Given the description of an element on the screen output the (x, y) to click on. 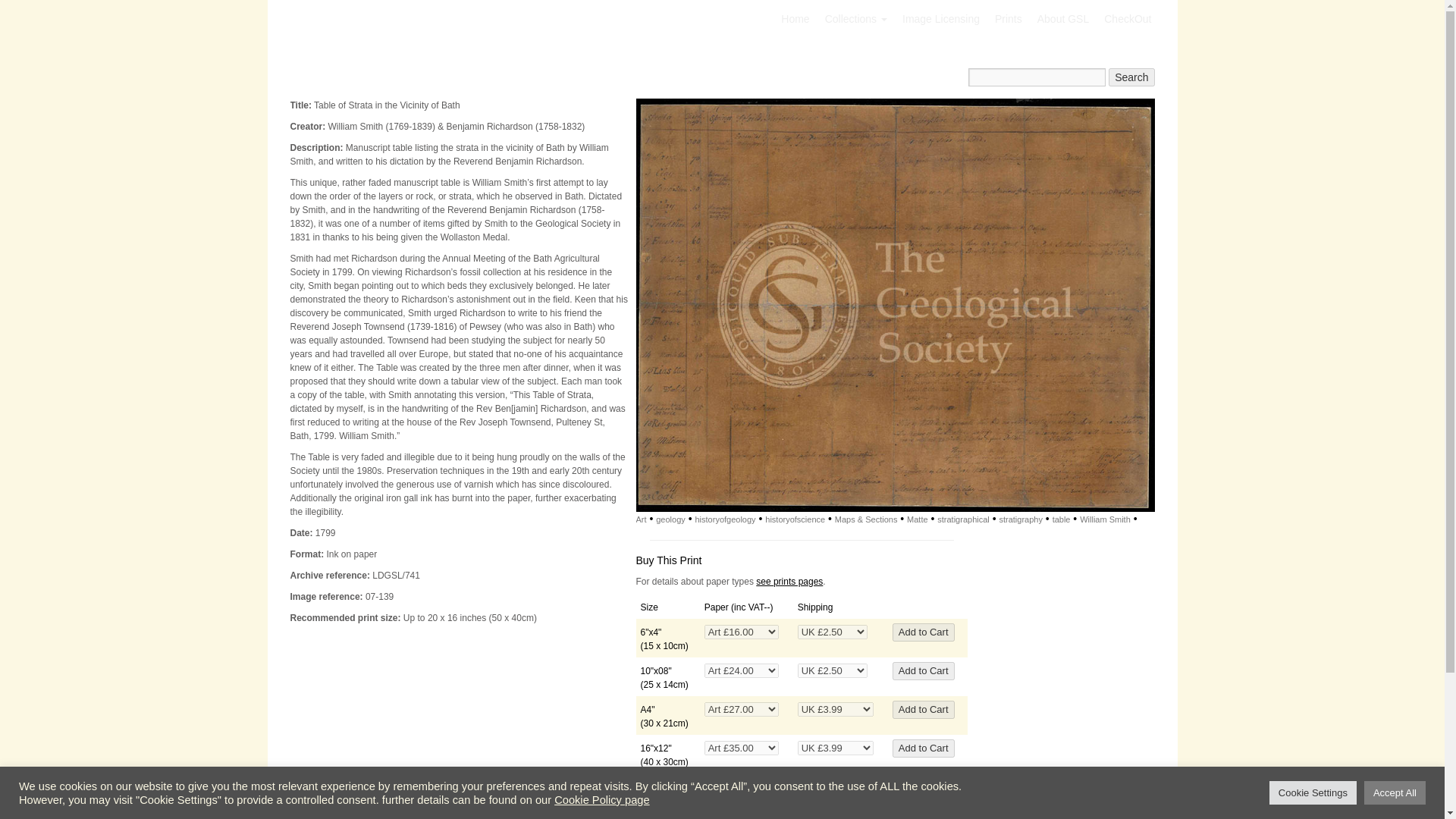
Collections (855, 19)
historyofscience (795, 519)
Add to Cart (923, 670)
see prints pages (788, 581)
Search (1131, 76)
Home (794, 19)
Search (1131, 76)
About GSL (1063, 19)
Add to Cart (923, 748)
Collections (855, 19)
